Given the description of an element on the screen output the (x, y) to click on. 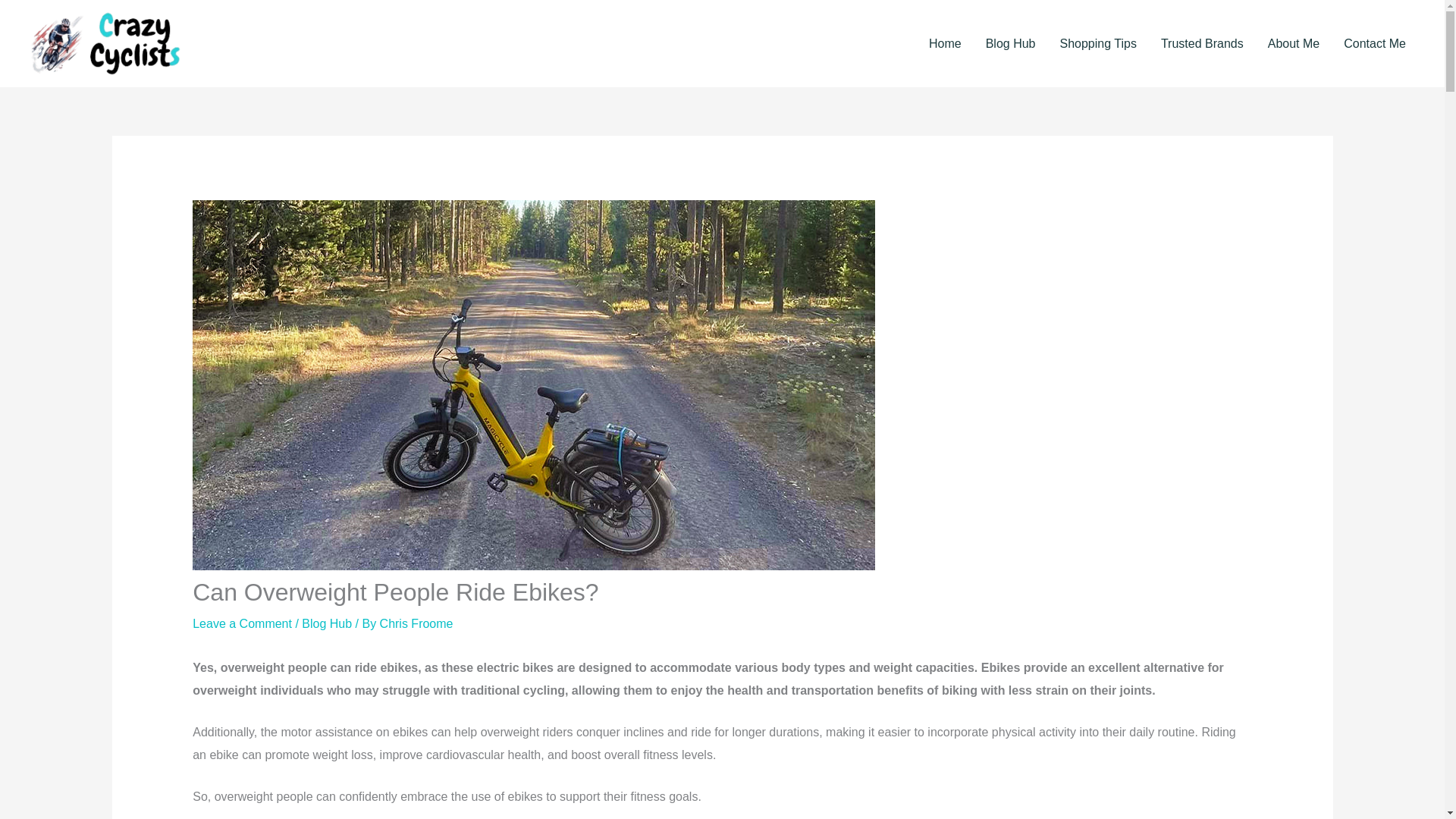
About Me (1293, 43)
Contact Me (1375, 43)
Shopping Tips (1098, 43)
Chris Froome (416, 623)
Trusted Brands (1201, 43)
Blog Hub (326, 623)
Leave a Comment (242, 623)
View all posts by Chris Froome (416, 623)
Blog Hub (1011, 43)
